Given the description of an element on the screen output the (x, y) to click on. 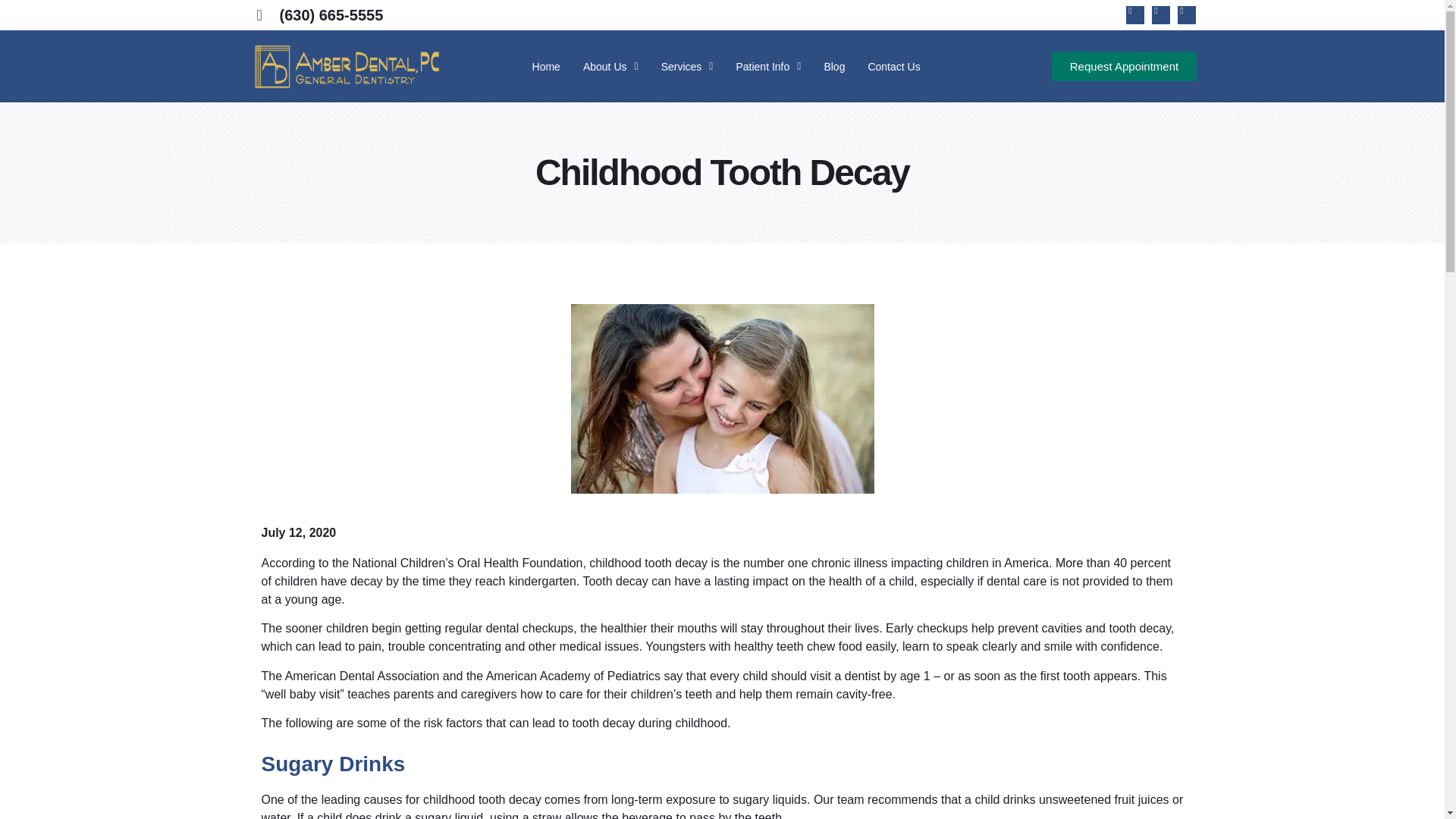
Services (687, 66)
Patient Info (767, 66)
Blog (834, 66)
About Us (610, 66)
Contact Us (893, 66)
Home (546, 66)
